Given the description of an element on the screen output the (x, y) to click on. 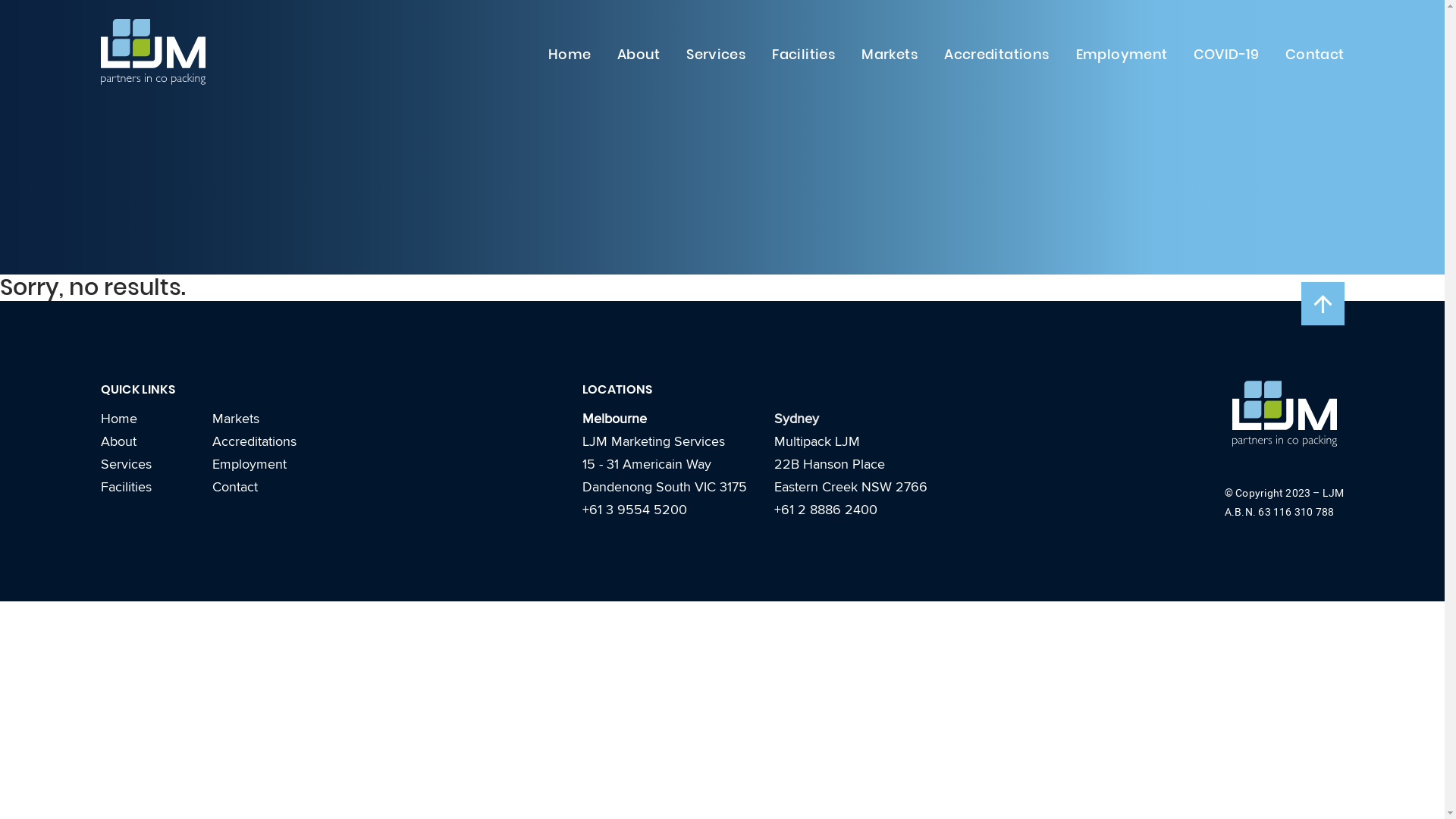
Facilities Element type: text (803, 54)
Employment Element type: text (249, 463)
+61 3 9554 5200 Element type: text (634, 509)
About Element type: text (117, 441)
About Element type: text (638, 54)
Facilities Element type: text (125, 486)
Contact Element type: text (1314, 54)
Services Element type: text (125, 463)
Services Element type: text (716, 54)
Contact Element type: text (234, 486)
+61 2 8886 2400 Element type: text (825, 509)
Markets Element type: text (235, 418)
Accreditations Element type: text (996, 54)
Markets Element type: text (889, 54)
Home Element type: text (118, 418)
Home Element type: text (569, 54)
Accreditations Element type: text (254, 441)
LJM Element type: text (1333, 492)
Employment Element type: text (1121, 54)
COVID-19 Element type: text (1226, 54)
